Given the description of an element on the screen output the (x, y) to click on. 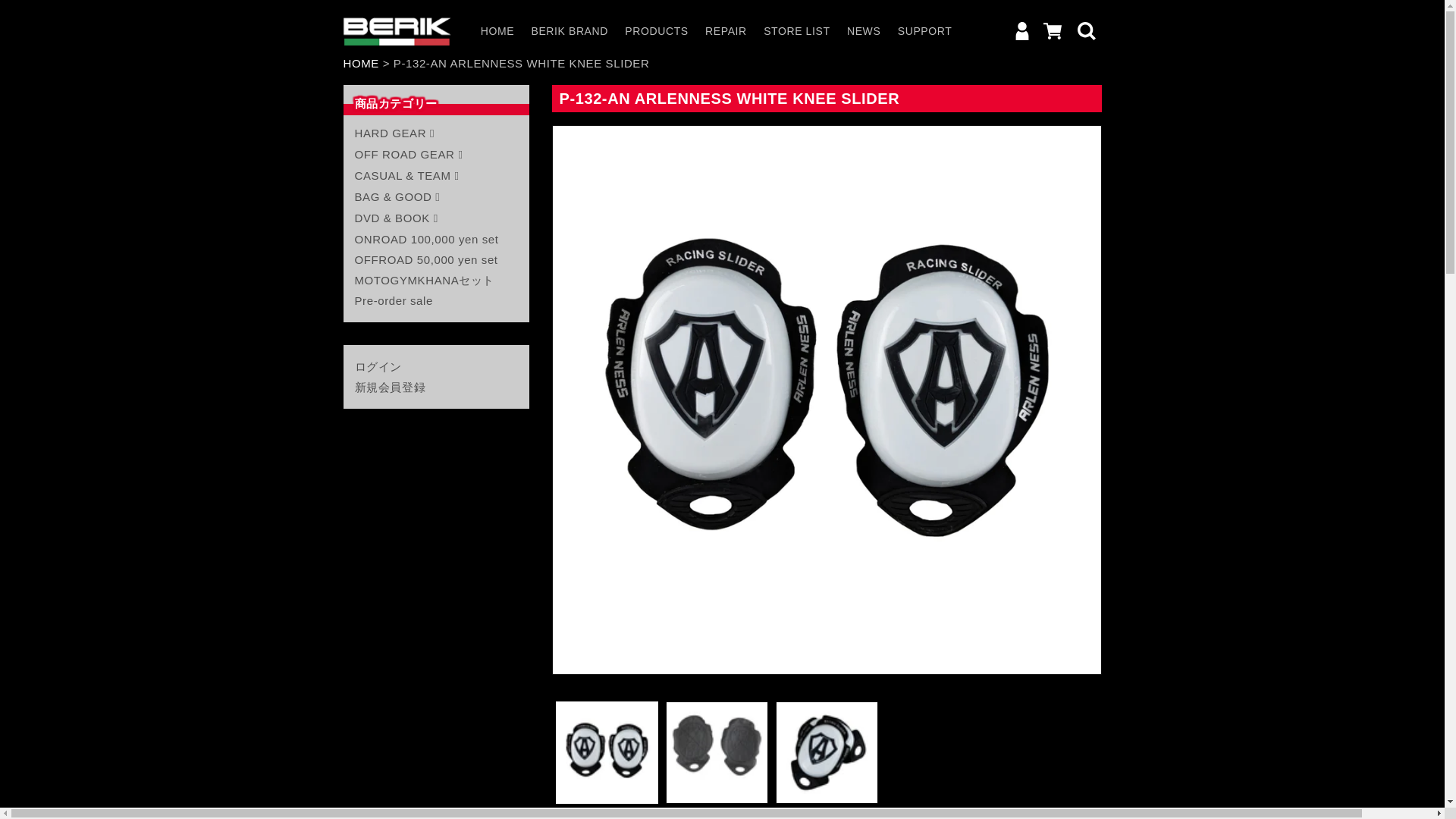
Skip to content (45, 16)
Home (360, 62)
